Given the description of an element on the screen output the (x, y) to click on. 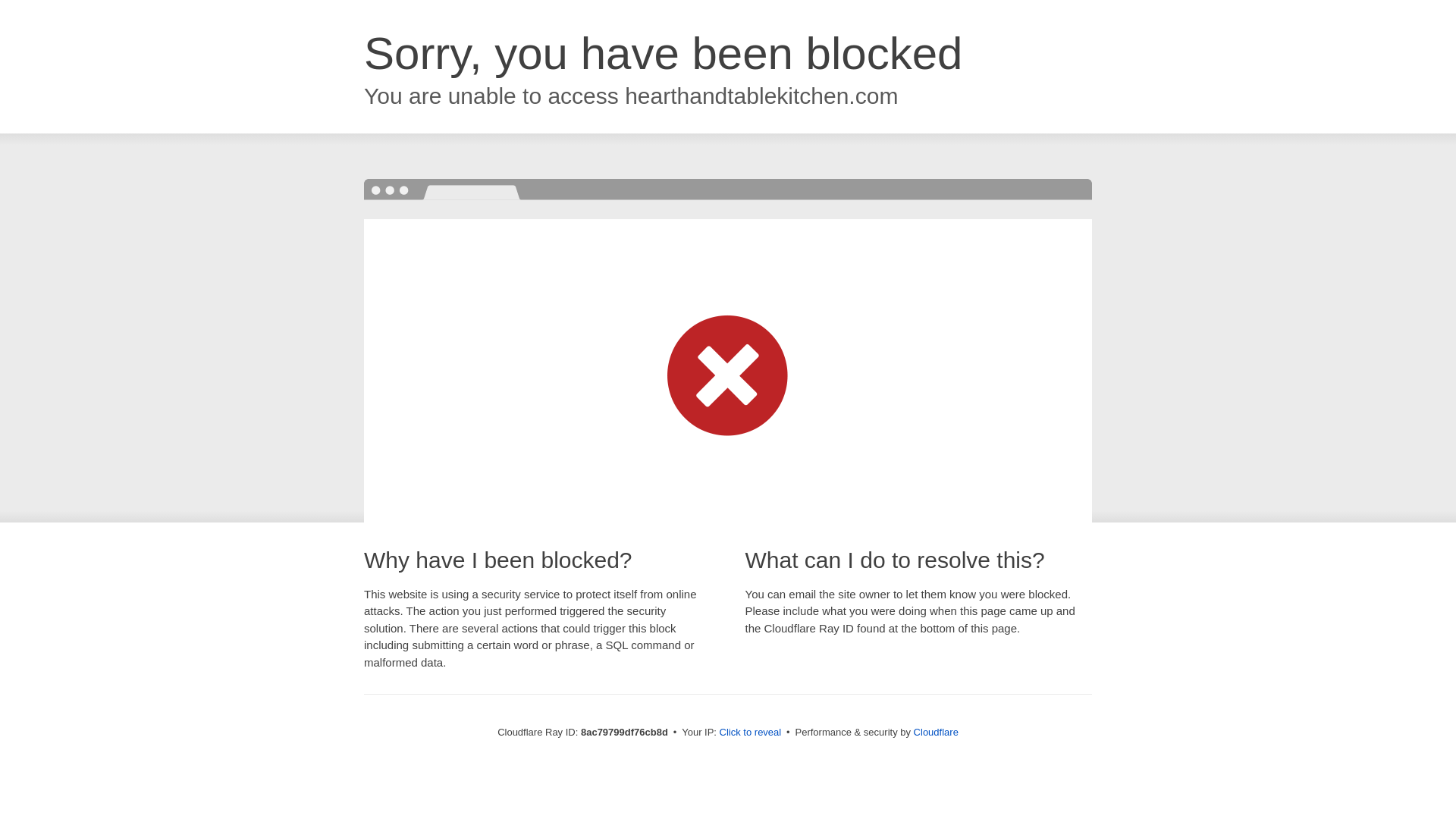
Cloudflare (936, 731)
Click to reveal (750, 732)
